Given the description of an element on the screen output the (x, y) to click on. 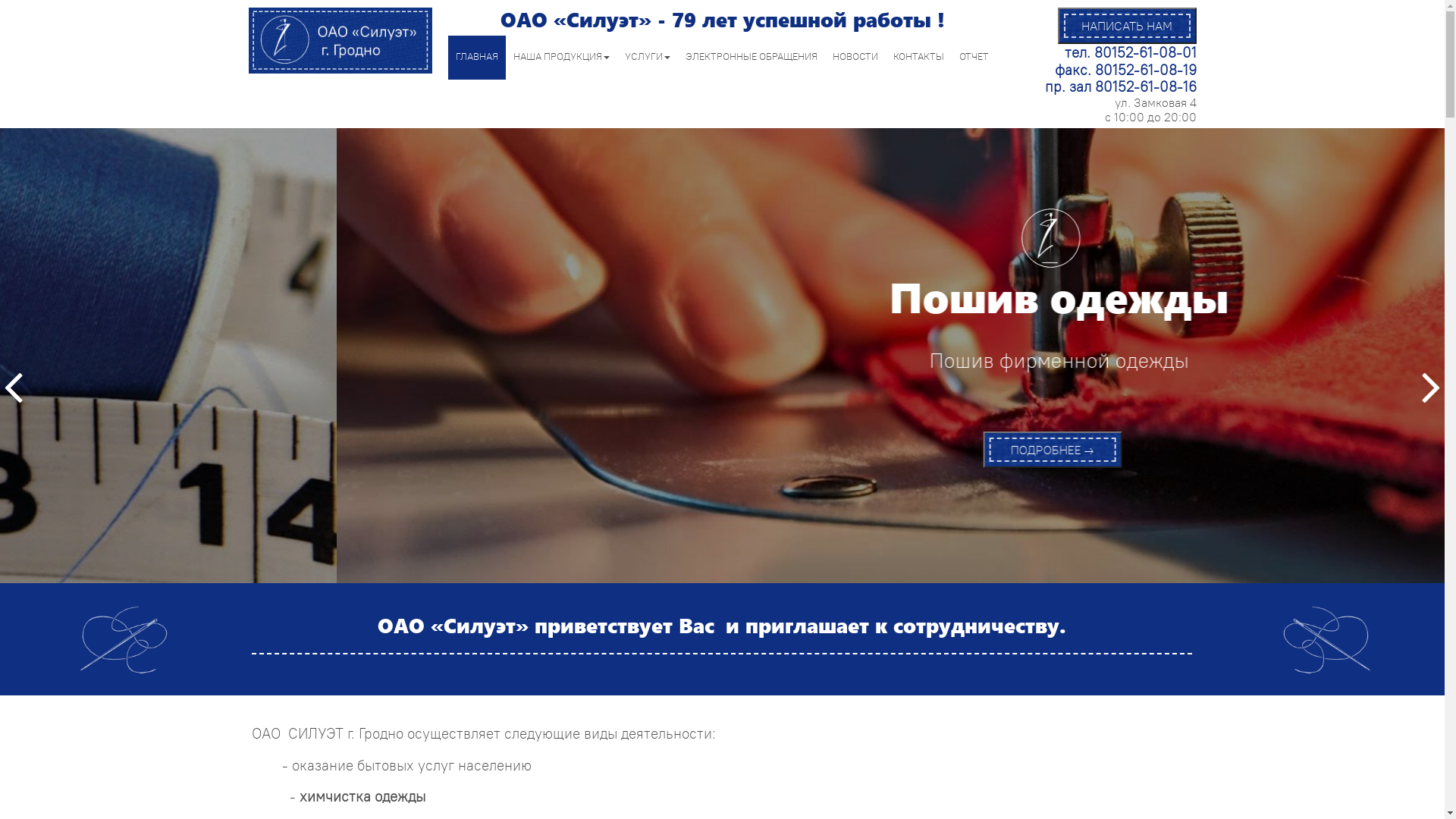
  Element type: text (19, 386)
